Given the description of an element on the screen output the (x, y) to click on. 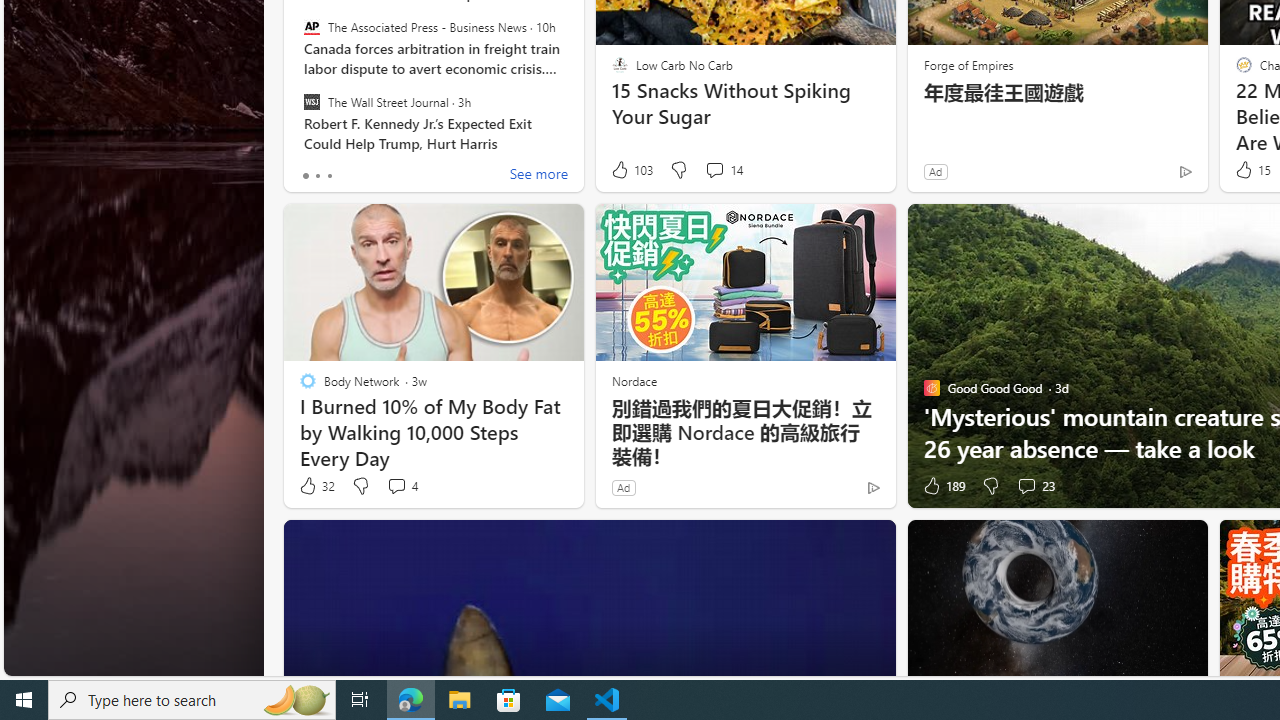
View comments 23 Comment (1026, 485)
View comments 4 Comment (396, 485)
